Given the description of an element on the screen output the (x, y) to click on. 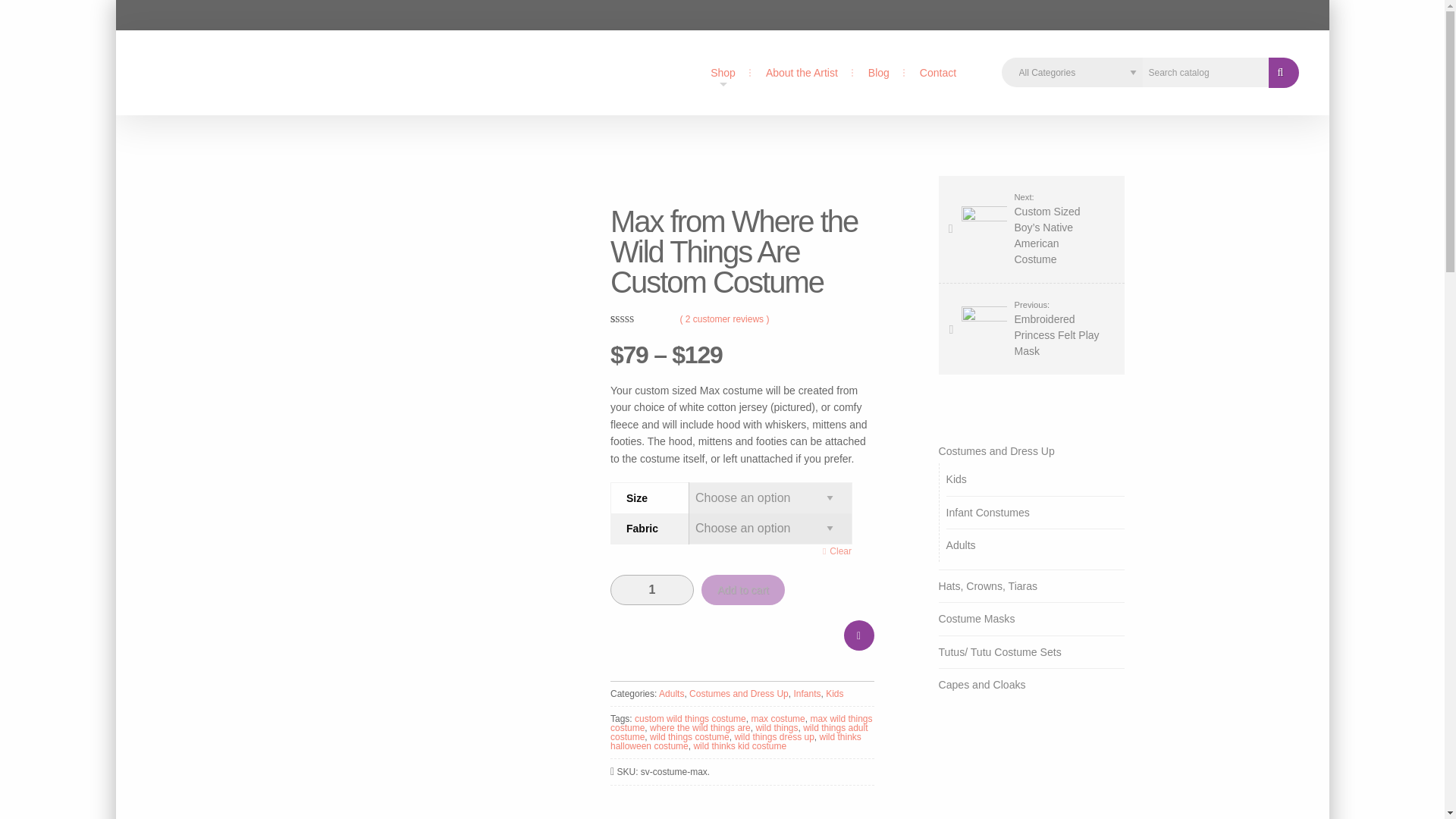
Blog (878, 72)
Contact (937, 72)
Add to cart (742, 589)
Add to wishlist (858, 634)
Infants (807, 693)
Shop (722, 72)
Adults (671, 693)
Qty (652, 589)
About the Artist (801, 72)
Clear (836, 551)
